Given the description of an element on the screen output the (x, y) to click on. 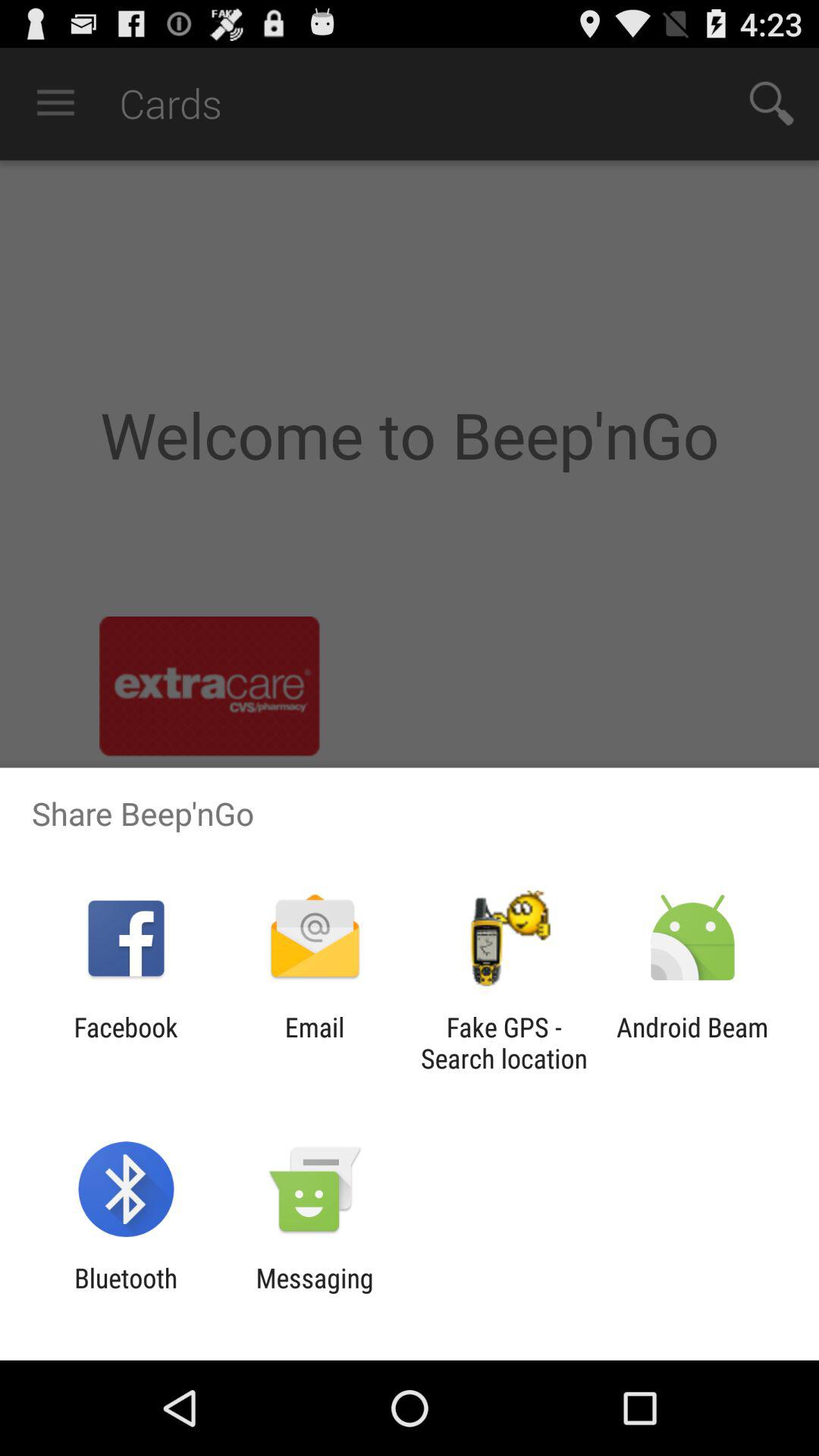
jump to fake gps search icon (503, 1042)
